Given the description of an element on the screen output the (x, y) to click on. 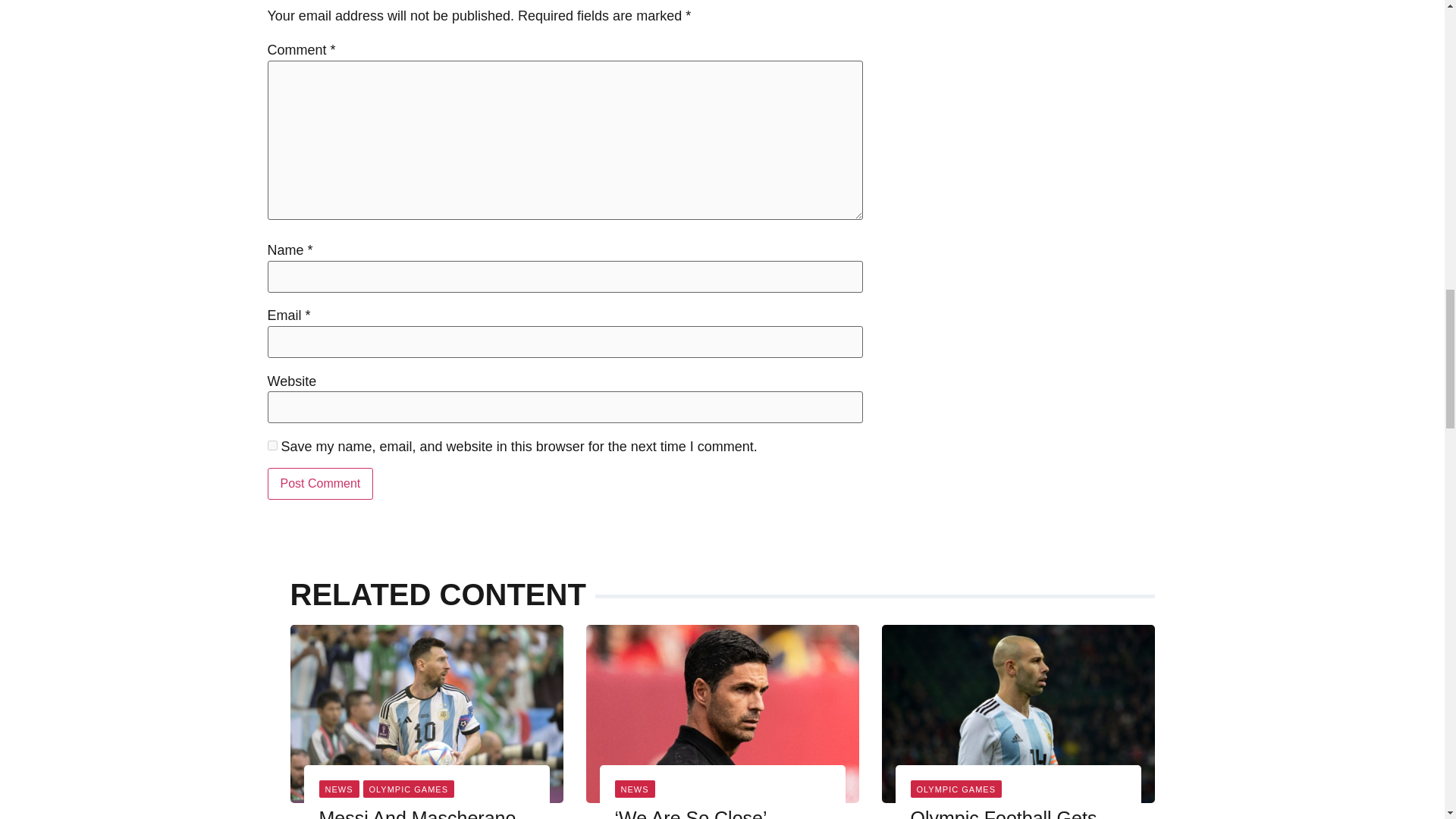
yes (271, 445)
Post Comment (319, 483)
